Given the description of an element on the screen output the (x, y) to click on. 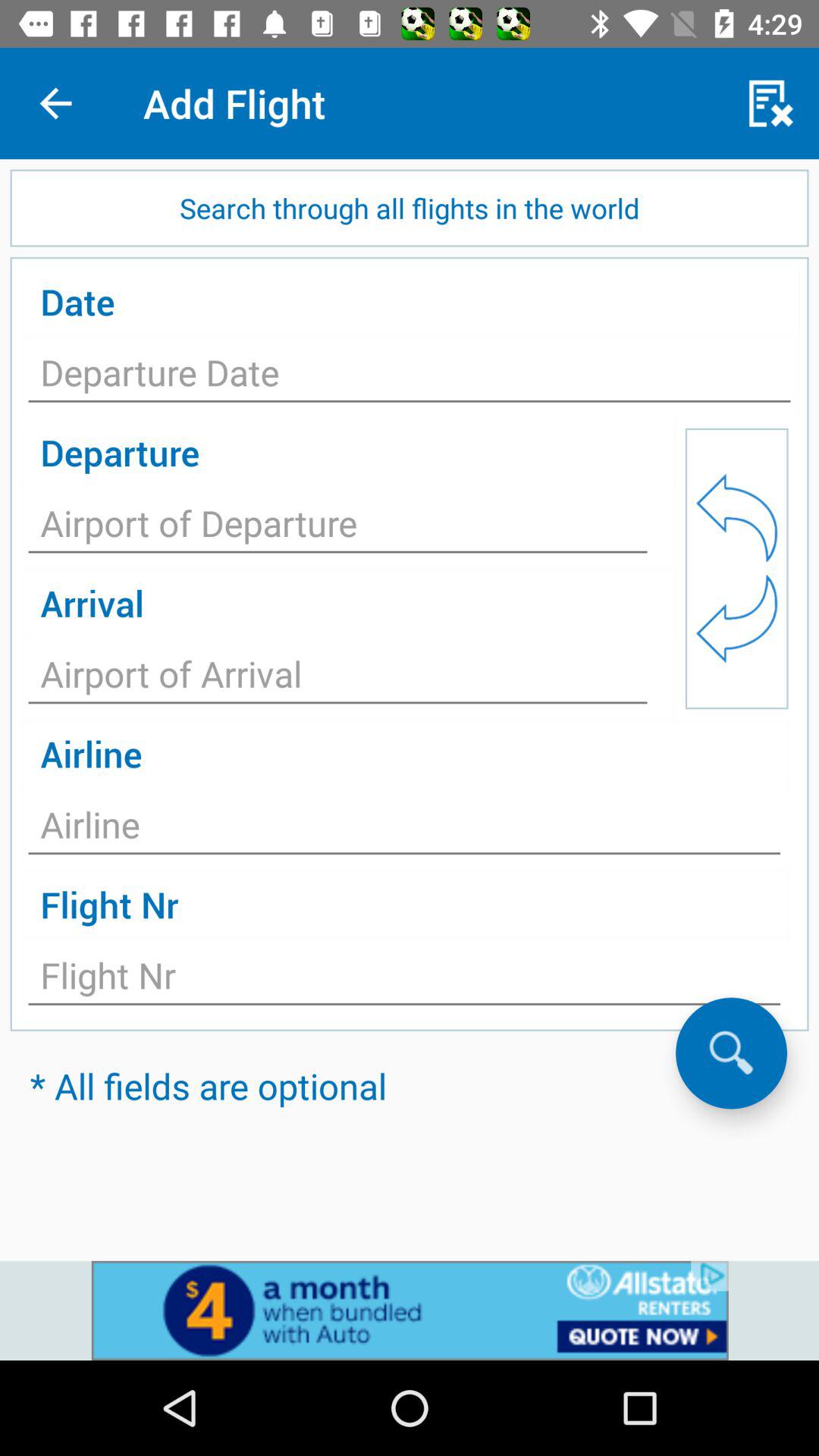
advertisement banner (409, 1310)
